Given the description of an element on the screen output the (x, y) to click on. 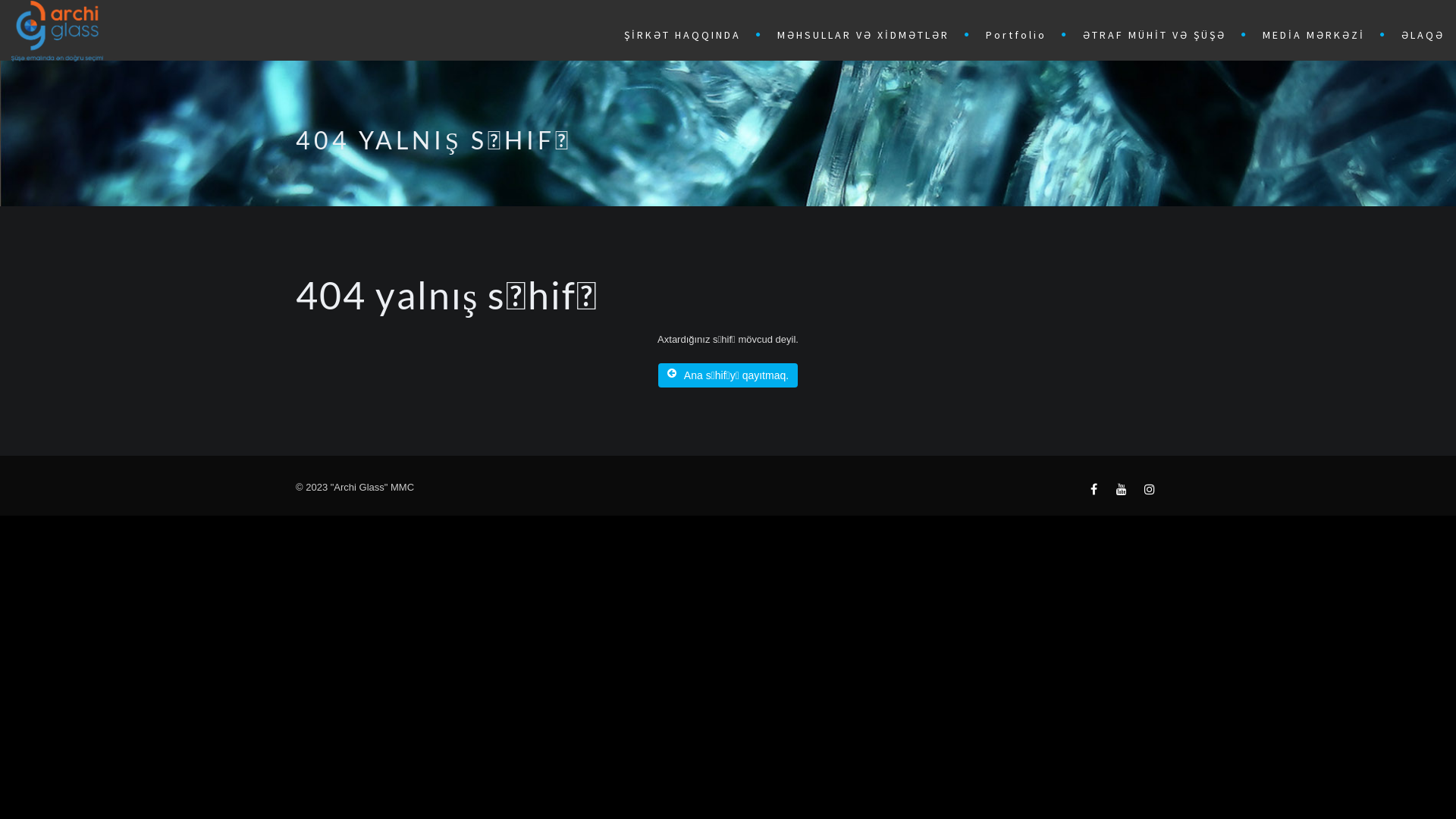
Portfolio Element type: text (1018, 32)
